Given the description of an element on the screen output the (x, y) to click on. 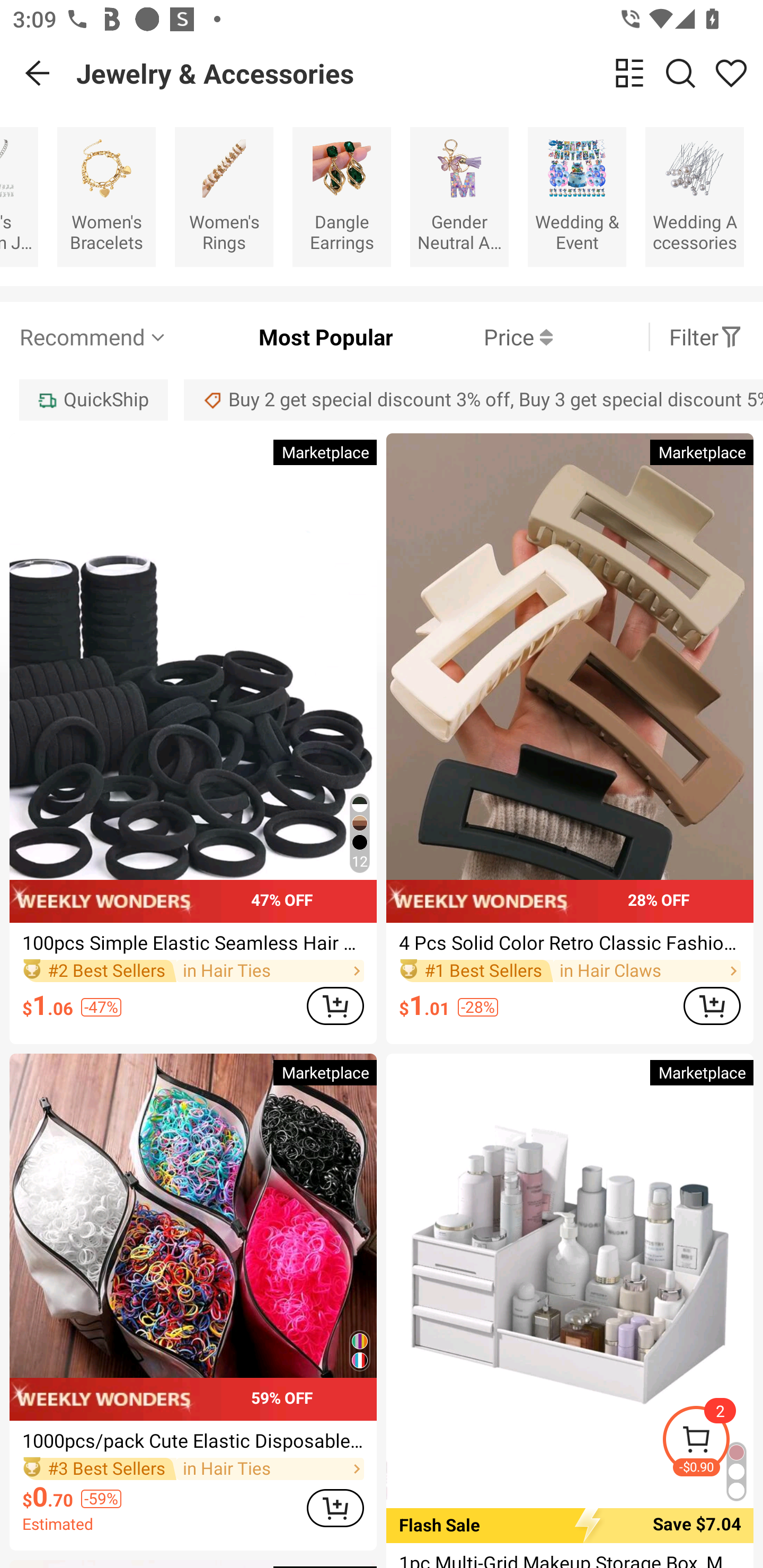
Jewelry & Accessories change view Search Share (419, 72)
change view (629, 72)
Search (679, 72)
Share (730, 72)
Women's Bracelets (106, 196)
Women's Rings (223, 196)
Dangle Earrings (341, 196)
Gender Neutral Accessories (459, 196)
Wedding & Event (576, 196)
Wedding Accessories (694, 196)
Recommend (93, 336)
Most Popular (280, 336)
Price (472, 336)
Filter (705, 336)
QuickShip (93, 399)
#2 Best Sellers in Hair Ties (192, 970)
#1 Best Sellers in Hair Claws (569, 970)
ADD TO CART (334, 1005)
ADD TO CART (711, 1005)
-$0.90 (712, 1441)
#3 Best Sellers in Hair Ties (192, 1468)
ADD TO CART (334, 1508)
